Given the description of an element on the screen output the (x, y) to click on. 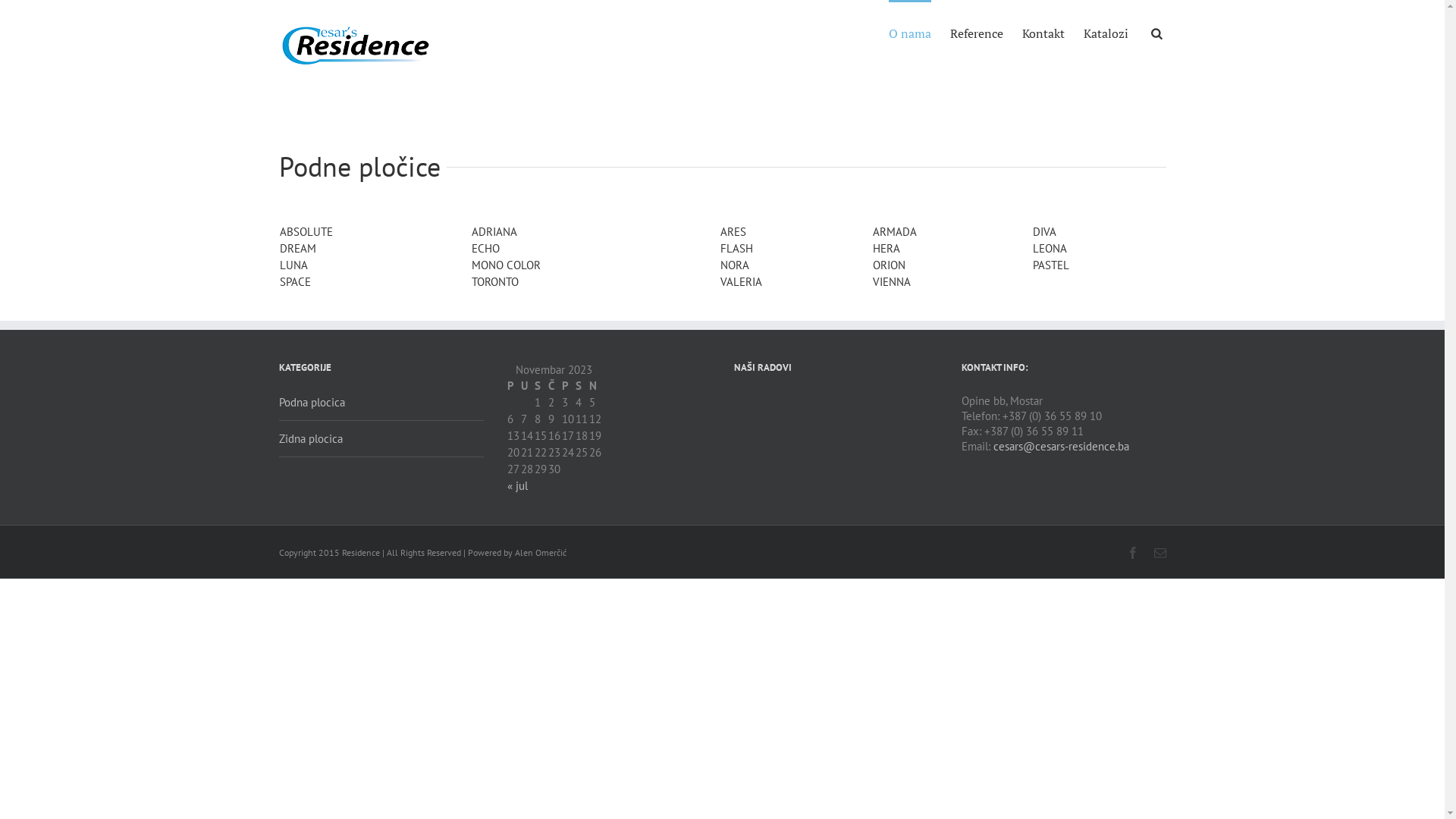
SPACE Element type: text (294, 281)
VIENNA Element type: text (891, 281)
ARES Element type: text (733, 231)
Kontakt Element type: text (1043, 32)
Mail Element type: hover (1160, 552)
ORION Element type: text (888, 264)
LUNA Element type: text (293, 264)
DREAM Element type: text (297, 248)
Katalozi Element type: text (1104, 32)
ECHO Element type: text (485, 248)
TORONTO Element type: text (494, 281)
ADRIANA Element type: text (494, 231)
Zidna plocica Element type: text (381, 438)
NORA Element type: text (734, 264)
ARMADA Element type: text (894, 231)
ABSOLUTE Element type: text (305, 231)
cesars@cesars-residence.ba Element type: text (1061, 446)
Podna plocica Element type: text (381, 406)
DIVA Element type: text (1044, 231)
O nama Element type: text (909, 32)
LEONA Element type: text (1049, 248)
VALERIA Element type: text (741, 281)
FLASH Element type: text (736, 248)
MONO COLOR Element type: text (505, 264)
Reference Element type: text (975, 32)
HERA Element type: text (886, 248)
Facebook Element type: hover (1132, 552)
PASTEL Element type: text (1050, 264)
